Given the description of an element on the screen output the (x, y) to click on. 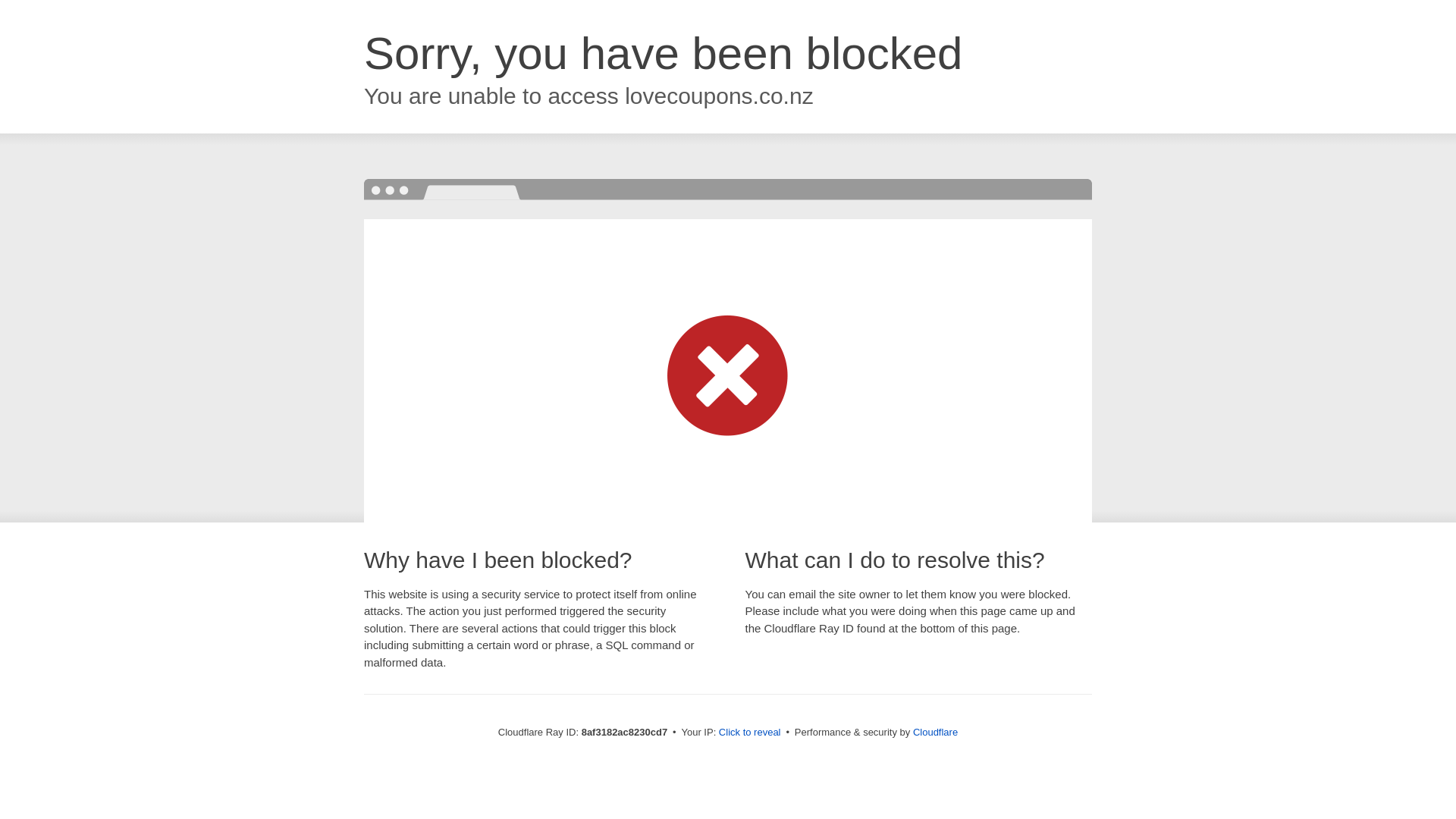
Click to reveal (749, 732)
Cloudflare (935, 731)
